Given the description of an element on the screen output the (x, y) to click on. 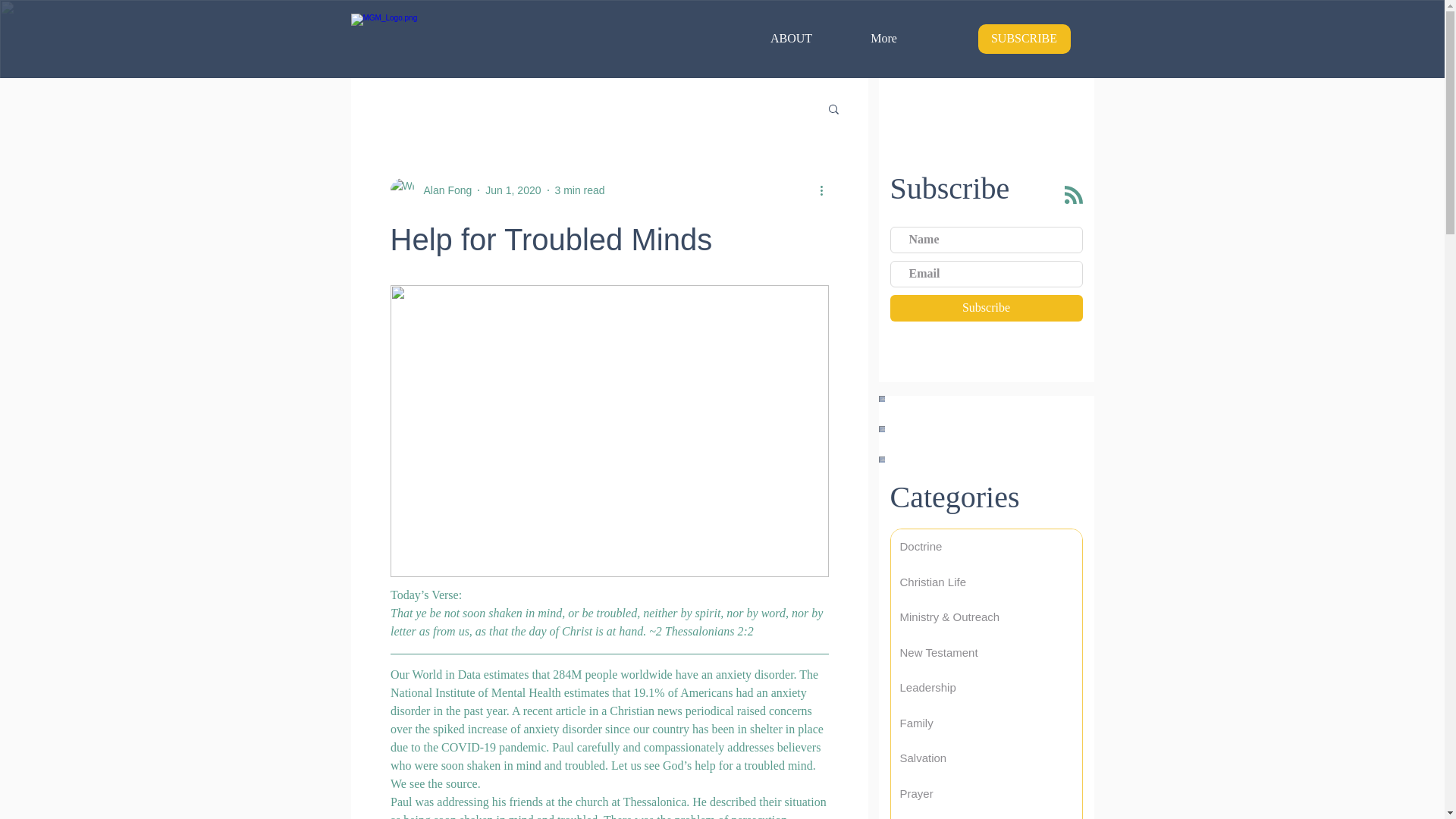
Alan Fong (442, 189)
Christian Life (985, 581)
Jun 1, 2020 (512, 189)
ABOUT (790, 38)
Spiritual Growth (985, 815)
New Testament (985, 652)
Subscribe (986, 307)
SUBSCRIBE (1024, 39)
Salvation (985, 758)
Leadership (985, 687)
3 min read (579, 189)
Prayer (985, 794)
Family (985, 723)
Doctrine (985, 547)
